Given the description of an element on the screen output the (x, y) to click on. 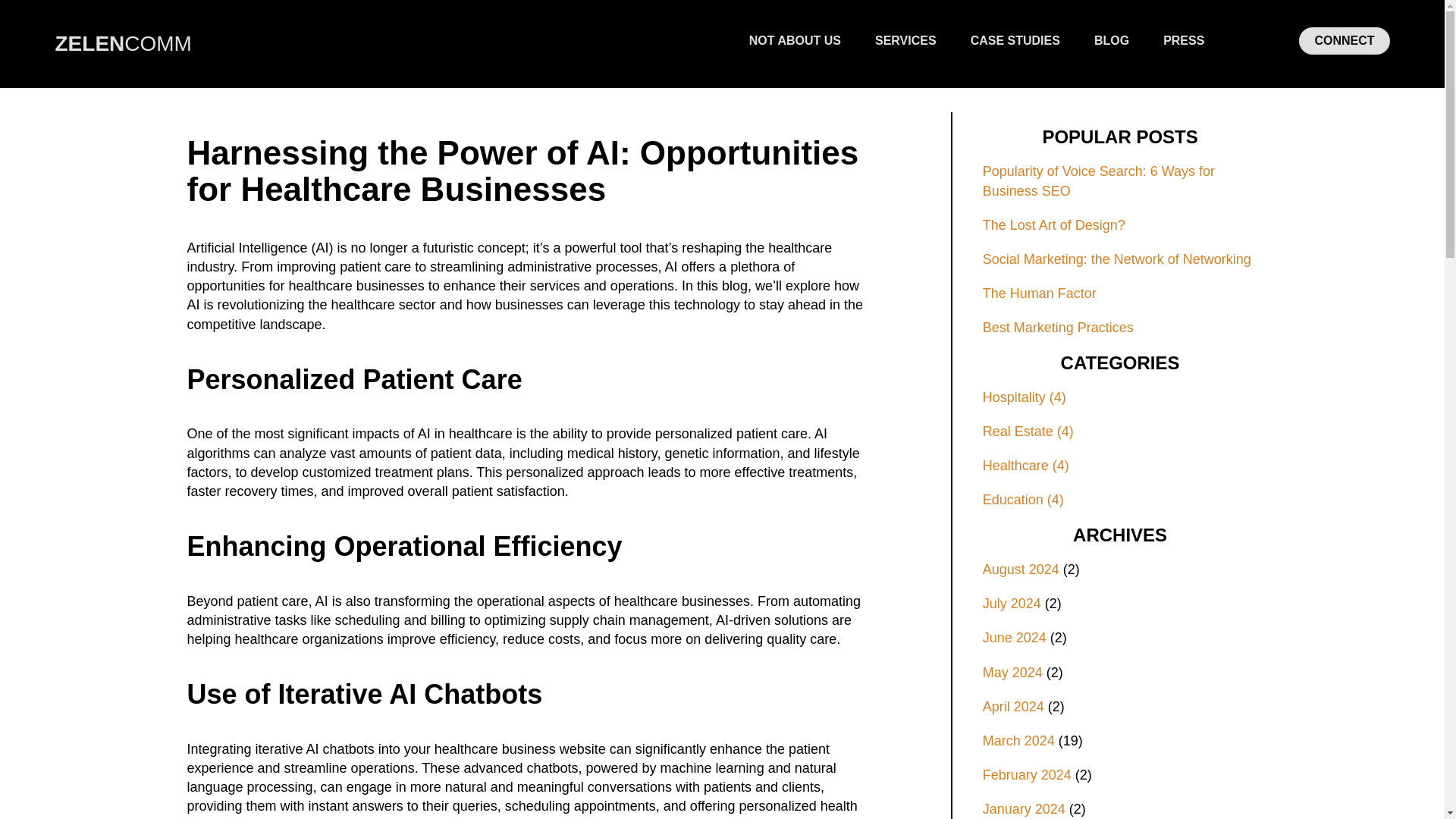
The Human Factor (1119, 293)
CONNECT (1343, 40)
Best Marketing Practices (1119, 327)
June 2024 (1014, 637)
May 2024 (1012, 672)
April 2024 (1012, 706)
ZELENCOMM (122, 43)
SERVICES (905, 40)
July 2024 (1011, 603)
August 2024 (1020, 569)
